Given the description of an element on the screen output the (x, y) to click on. 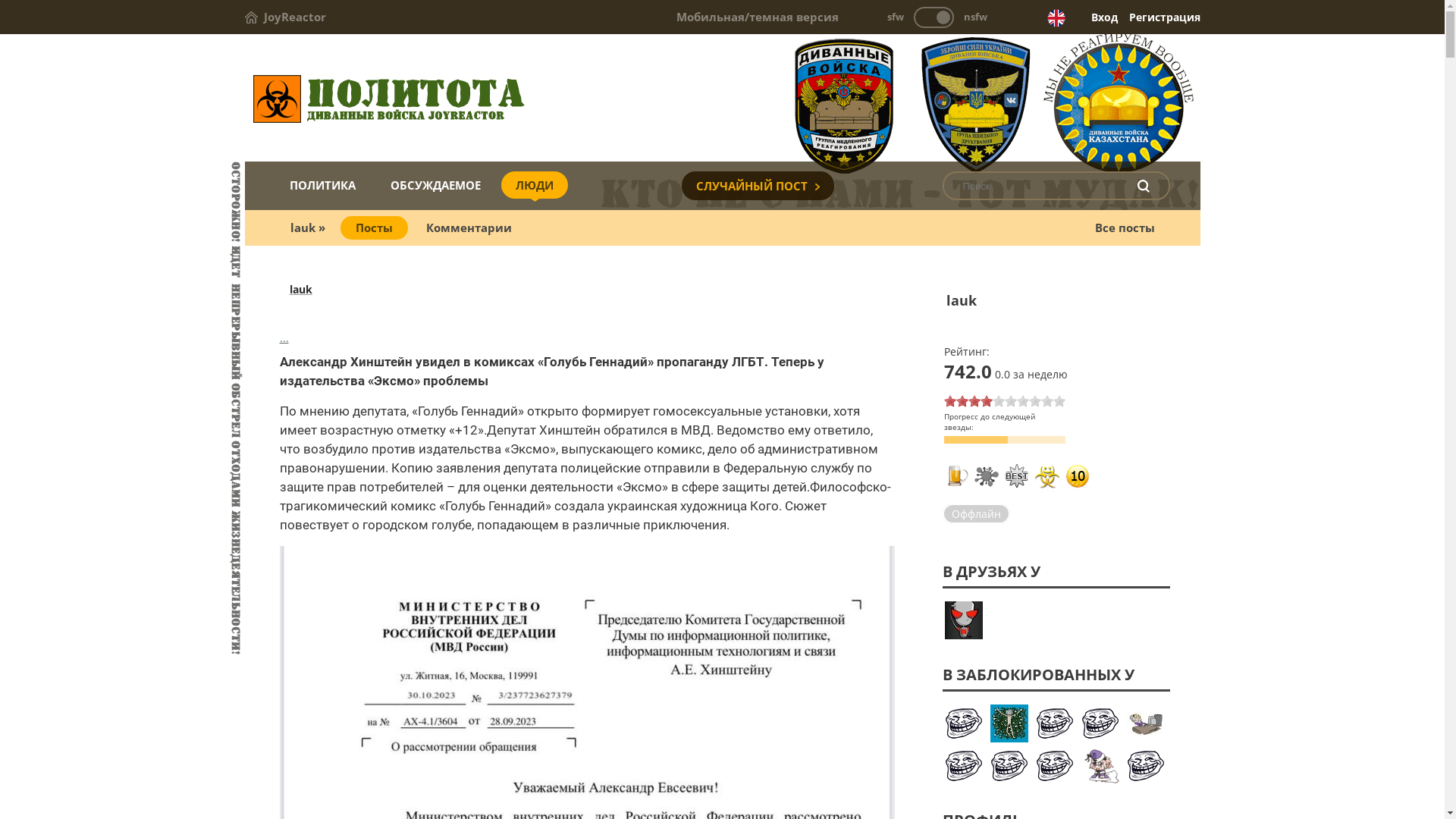
poslevsego Element type: hover (1009, 723)
English version Element type: hover (1055, 18)
nikshepard Element type: hover (1145, 765)
BitchesAndWhores Element type: hover (963, 765)
Mapper Element type: hover (1054, 723)
Anta_baka Element type: hover (963, 723)
Zlobglaz Element type: hover (1009, 765)
yotphiligan Element type: hover (1054, 765)
opera_torr Element type: hover (1100, 723)
JoyReactor Element type: text (284, 17)
lauk Element type: text (300, 289)
1karmen Element type: hover (1145, 723)
John_Headon Element type: hover (963, 620)
